Given the description of an element on the screen output the (x, y) to click on. 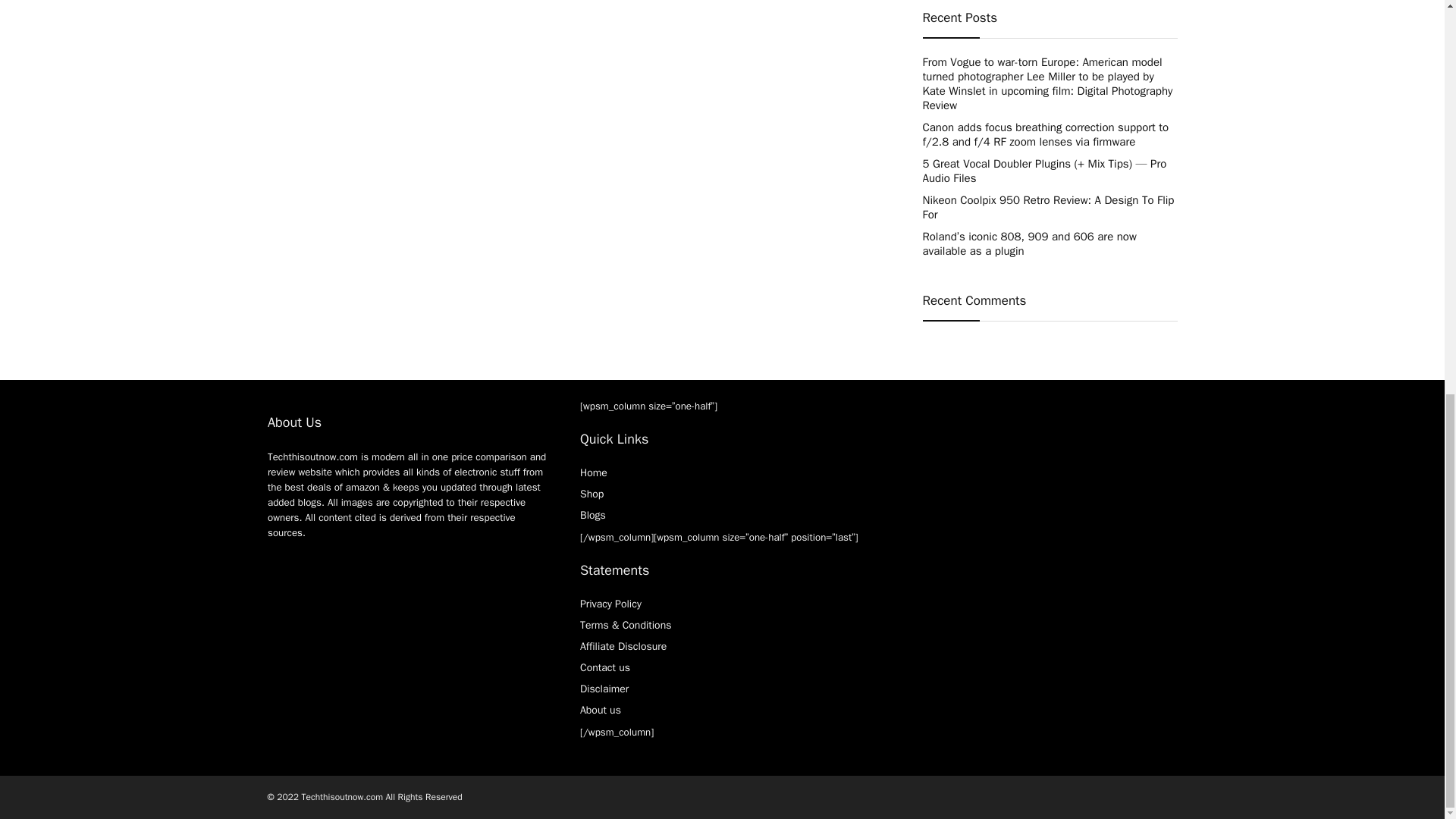
Home (593, 472)
Blogs (592, 514)
Shop (591, 493)
Nikeon Coolpix 950 Retro Review: A Design To Flip For (1047, 207)
Disclaimer (603, 688)
Privacy Policy (610, 603)
Affiliate Disclosure (622, 645)
Contact us (604, 667)
About us (600, 709)
